Given the description of an element on the screen output the (x, y) to click on. 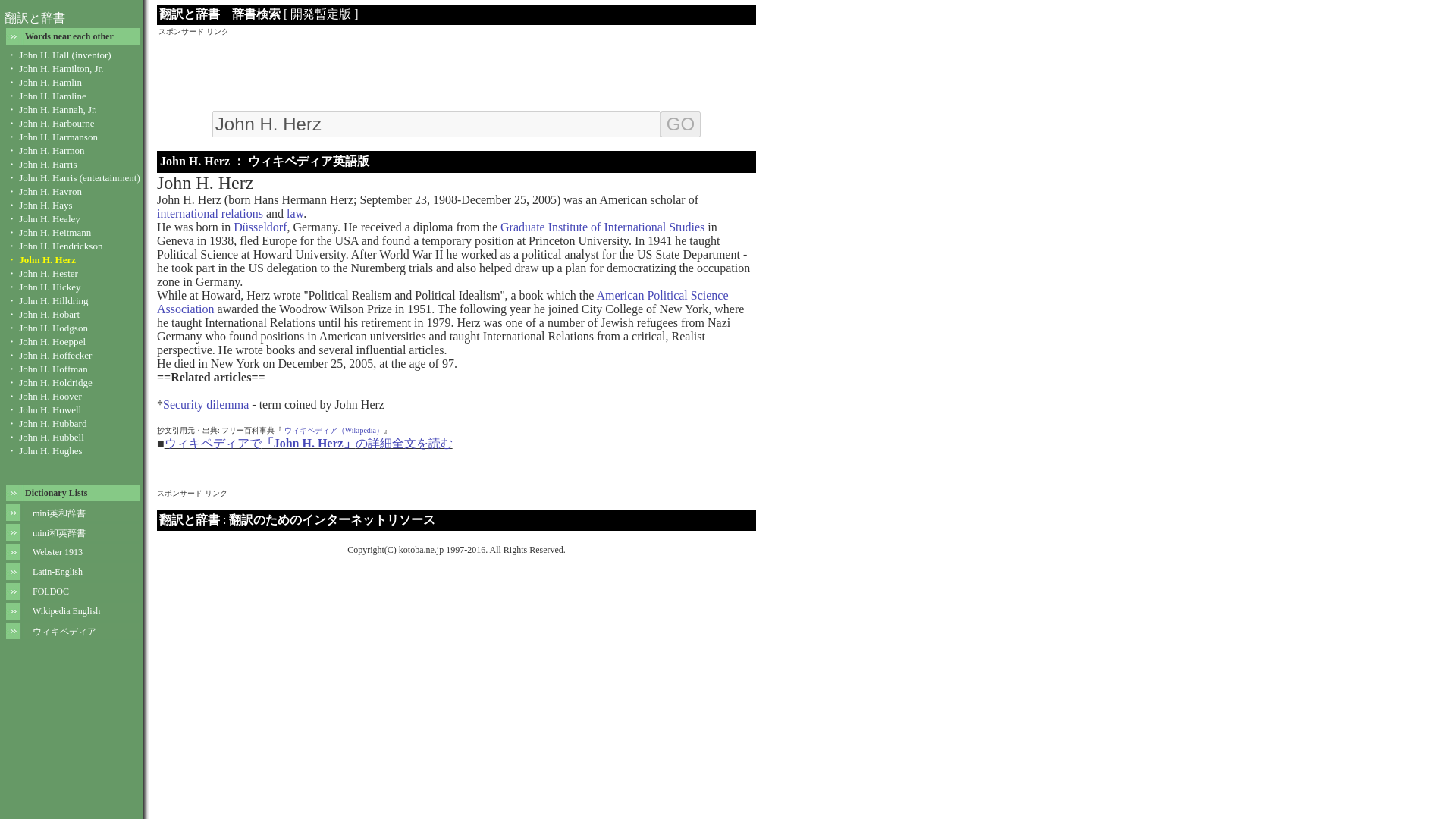
law (294, 213)
American Political Science Association (443, 302)
John H. Herz (436, 124)
Graduate Institute of International Studies (602, 226)
international relations (210, 213)
Advertisement (433, 504)
international relations (210, 213)
Latin-English (57, 571)
Advertisement (456, 70)
Webster 1913 (57, 552)
GO (680, 124)
Security dilemma (205, 404)
FOLDOC (50, 591)
Wikipedia English (66, 611)
